Given the description of an element on the screen output the (x, y) to click on. 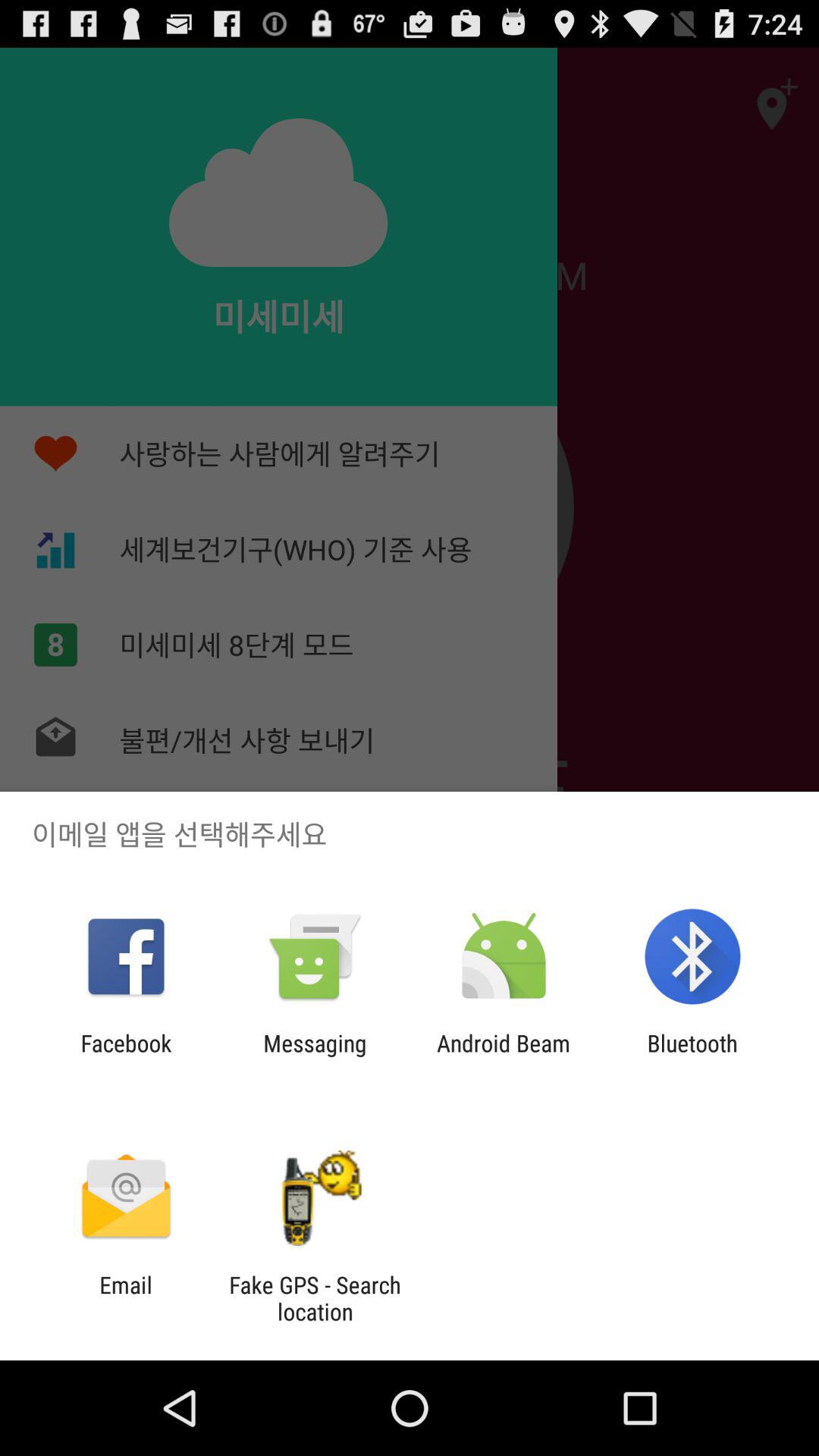
launch icon to the left of messaging item (125, 1056)
